Given the description of an element on the screen output the (x, y) to click on. 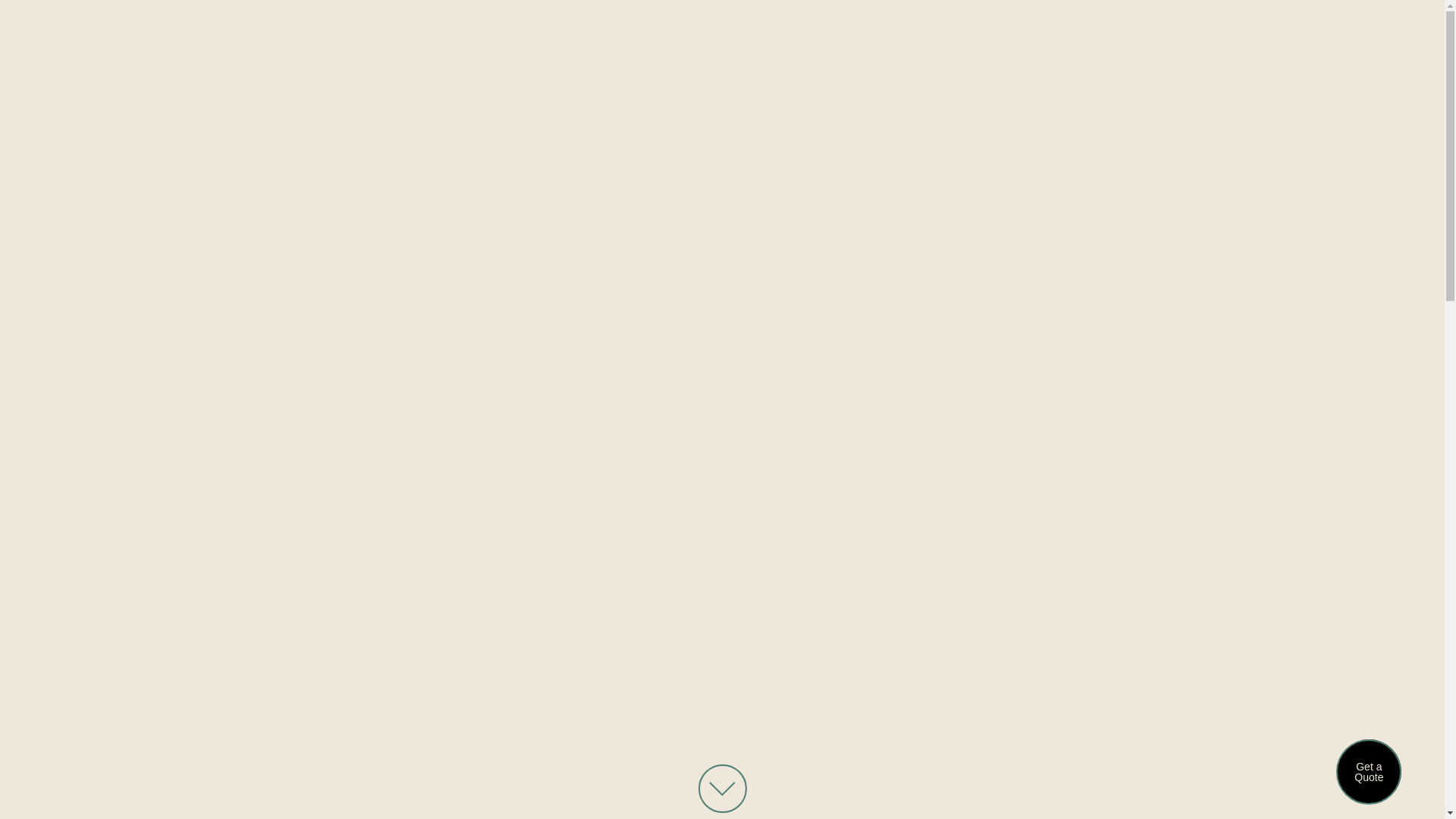
Get a Quote Element type: text (1369, 771)
+61 3 8638 1822 Element type: text (1207, 56)
